Given the description of an element on the screen output the (x, y) to click on. 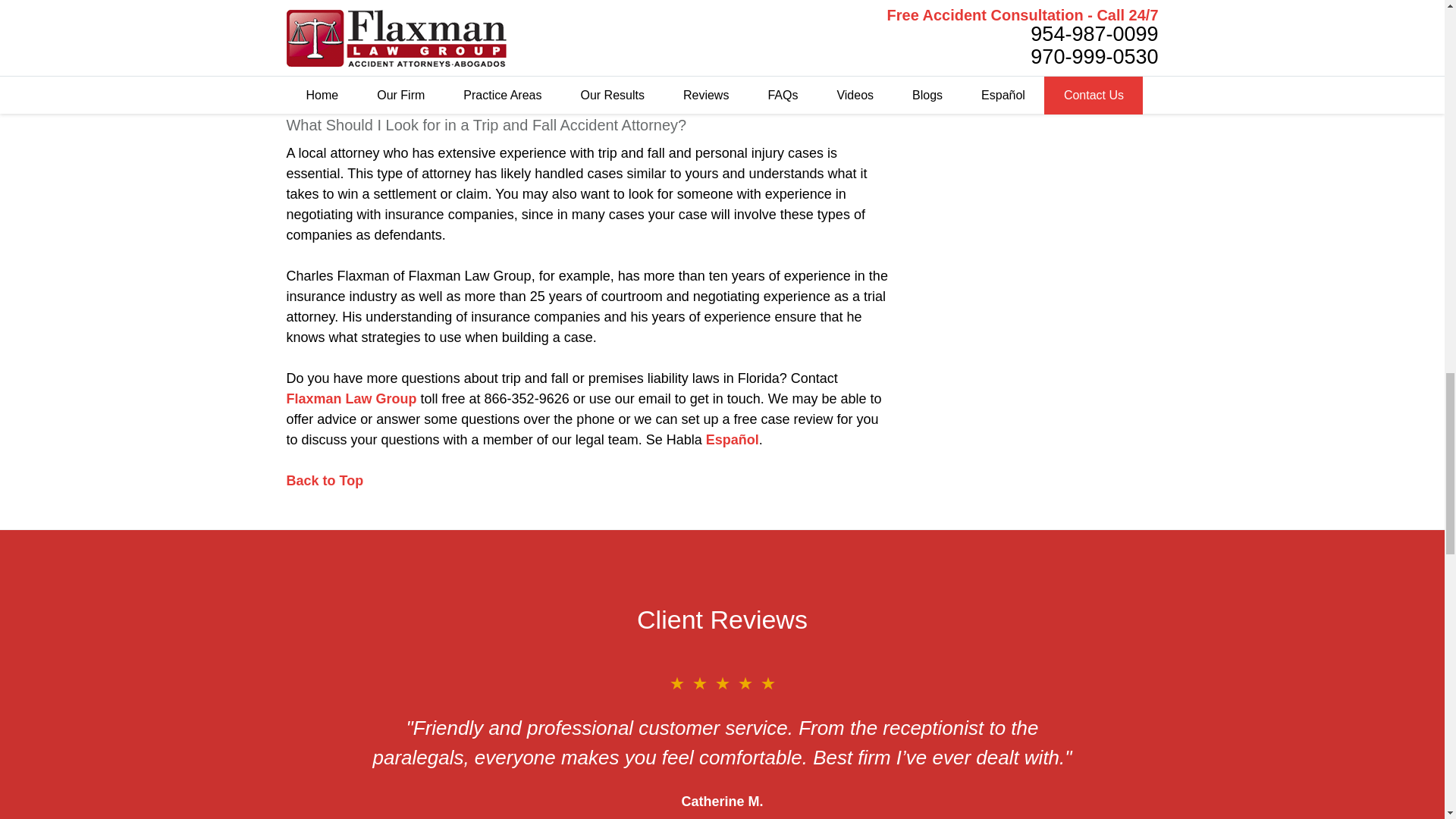
Back to Top (325, 82)
Flaxman Law Group (351, 398)
Back to Top (325, 480)
